Given the description of an element on the screen output the (x, y) to click on. 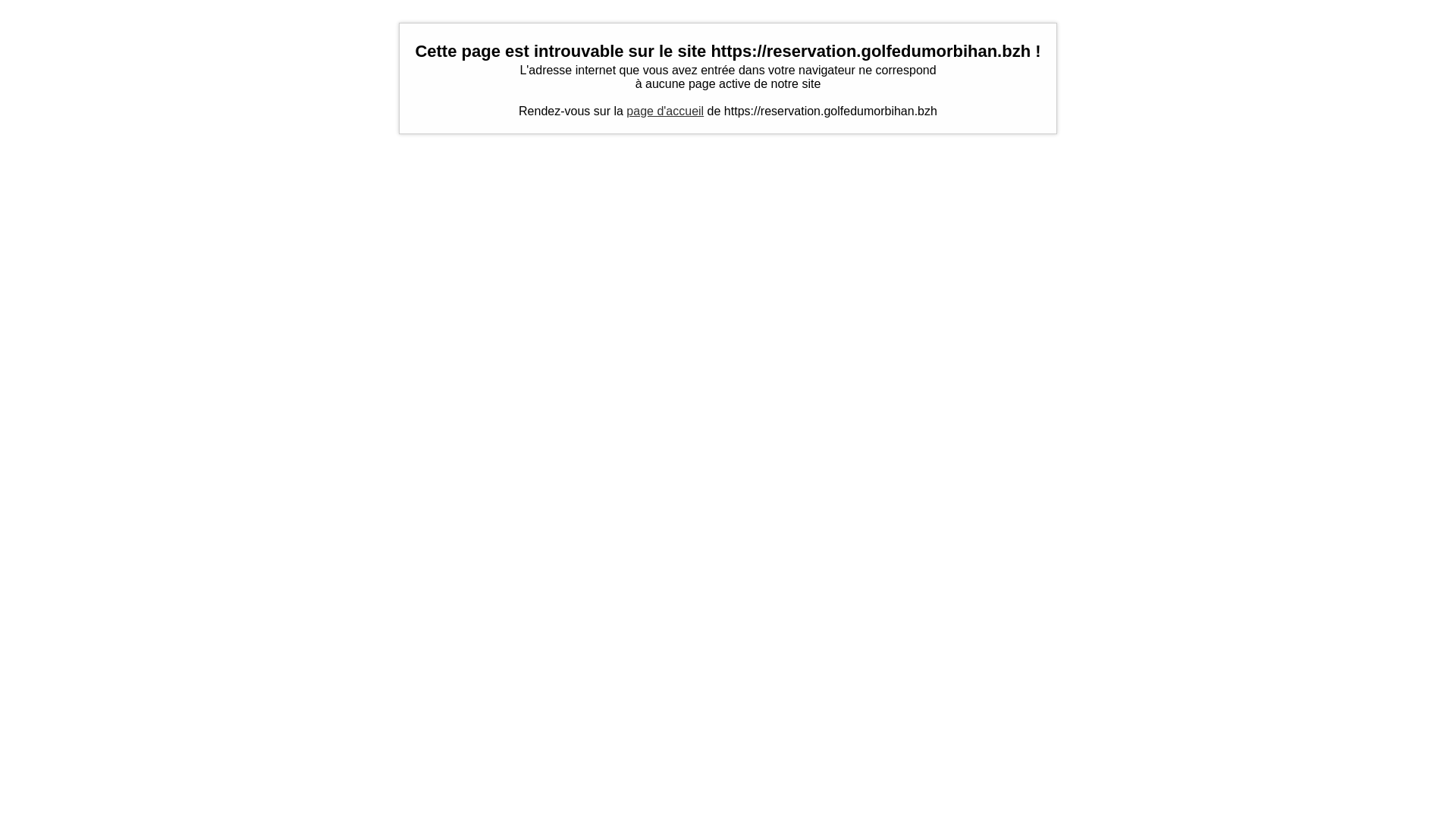
page d'accueil Element type: text (664, 110)
